Given the description of an element on the screen output the (x, y) to click on. 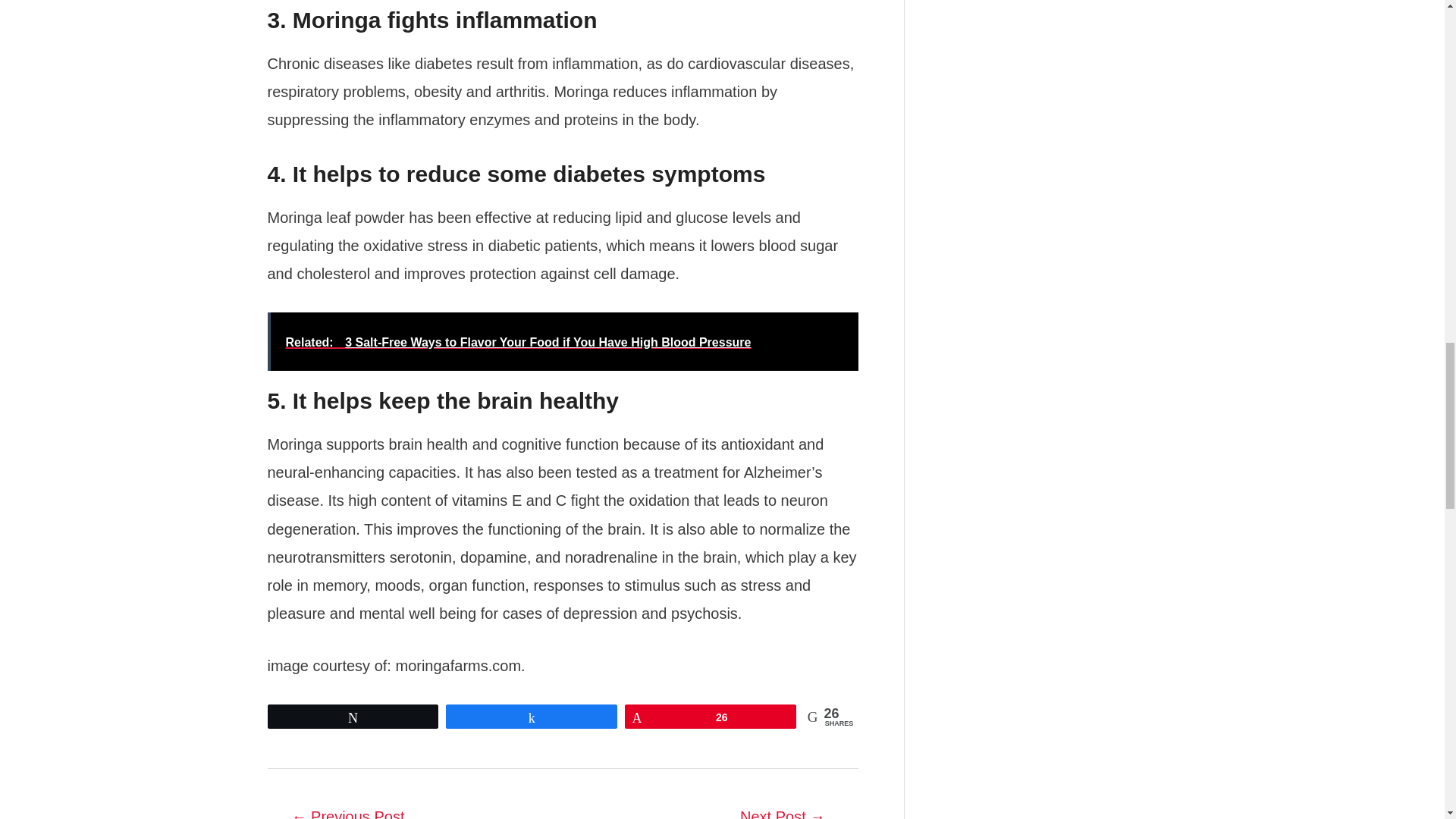
26 (710, 716)
Helping Someone Who Is Addicted to Drugs (783, 809)
What Is a Master Cleanse and How to Do It? (346, 809)
